Given the description of an element on the screen output the (x, y) to click on. 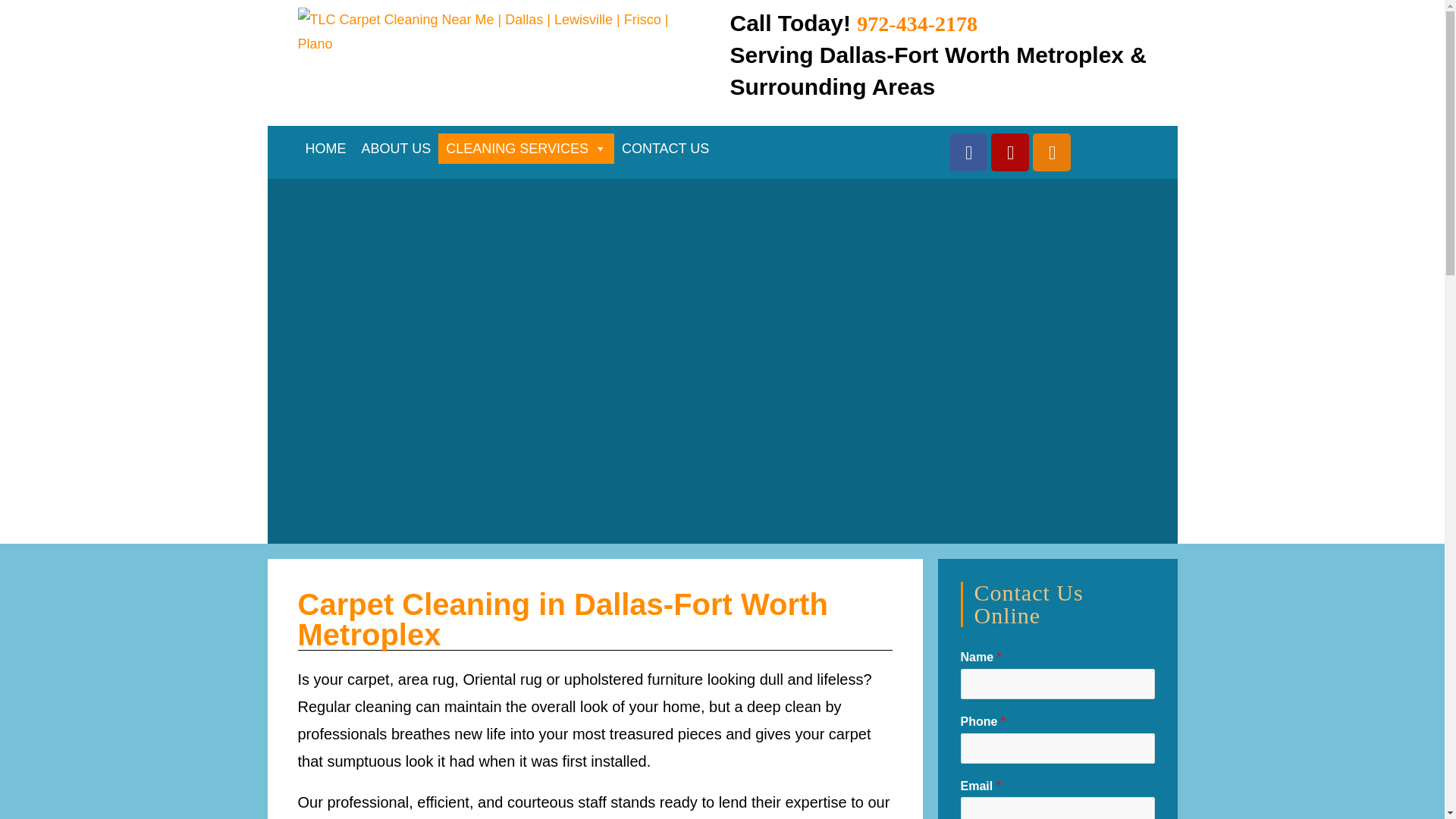
CONTACT US (665, 148)
CLEANING SERVICES (526, 148)
HOME (325, 148)
ABOUT US (395, 148)
972-434-2178 (916, 26)
